Given the description of an element on the screen output the (x, y) to click on. 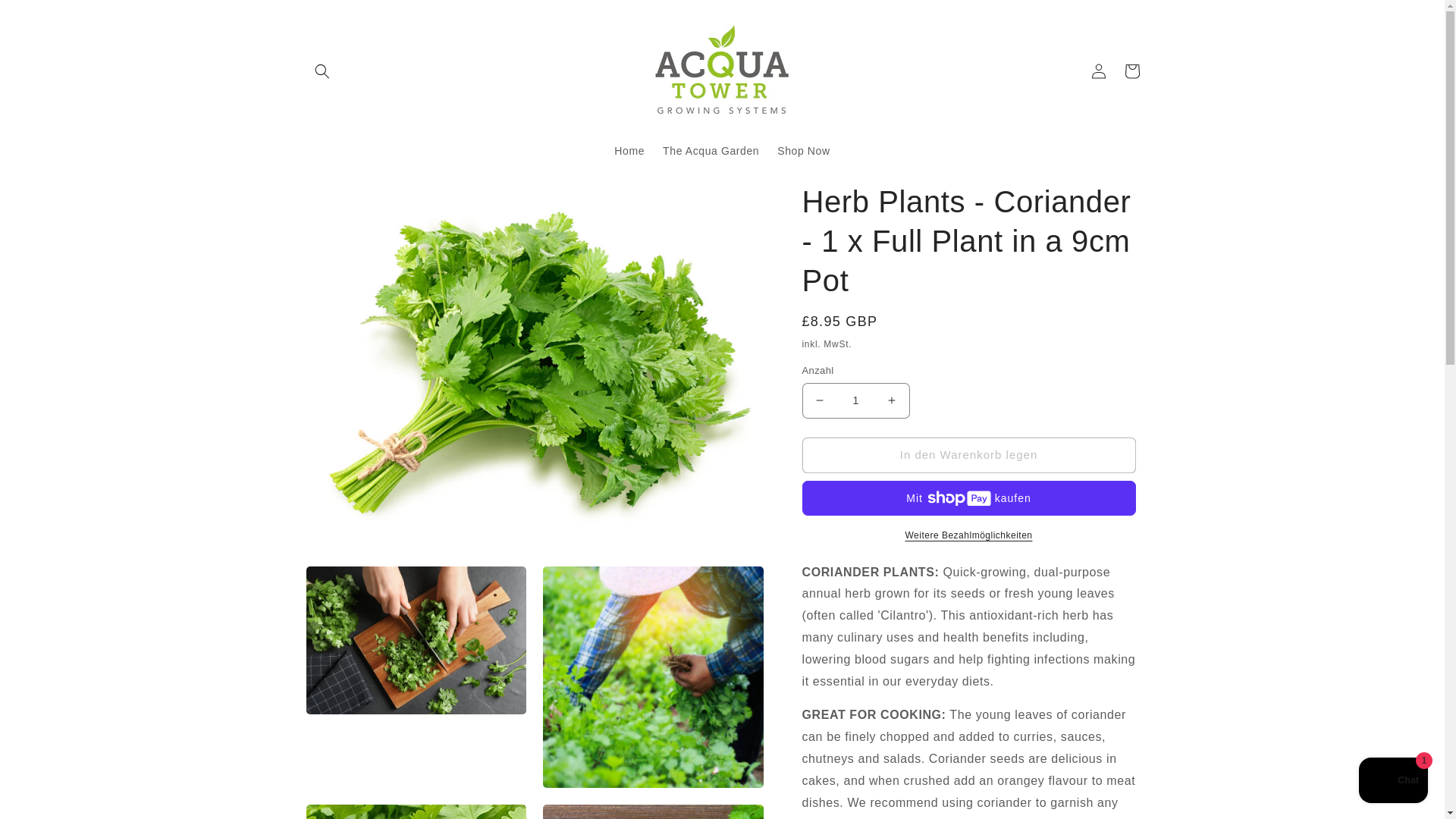
The Acqua Garden (710, 151)
Onlineshop-Chat von Shopify (1393, 781)
Warenkorb (1131, 70)
Shop Now (803, 151)
Zu Produktinformationen springen (350, 198)
Direkt zum Inhalt (45, 17)
Einloggen (1098, 70)
In den Warenkorb legen (968, 455)
Home (629, 151)
1 (856, 400)
